Given the description of an element on the screen output the (x, y) to click on. 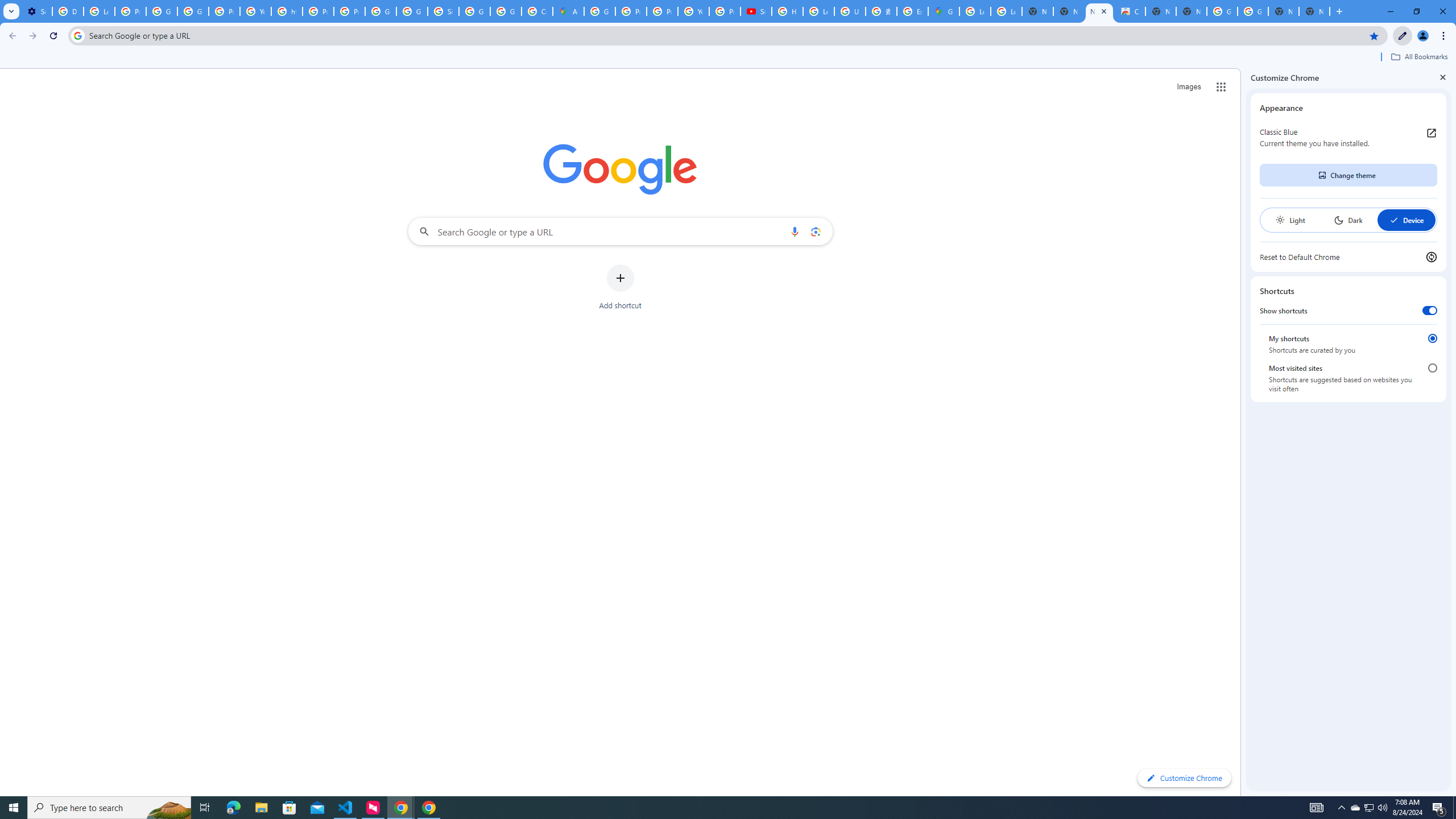
Google Images (1222, 11)
Explore new street-level details - Google Maps Help (912, 11)
Privacy Help Center - Policies Help (662, 11)
Google Images (1252, 11)
Subscriptions - YouTube (756, 11)
